Given the description of an element on the screen output the (x, y) to click on. 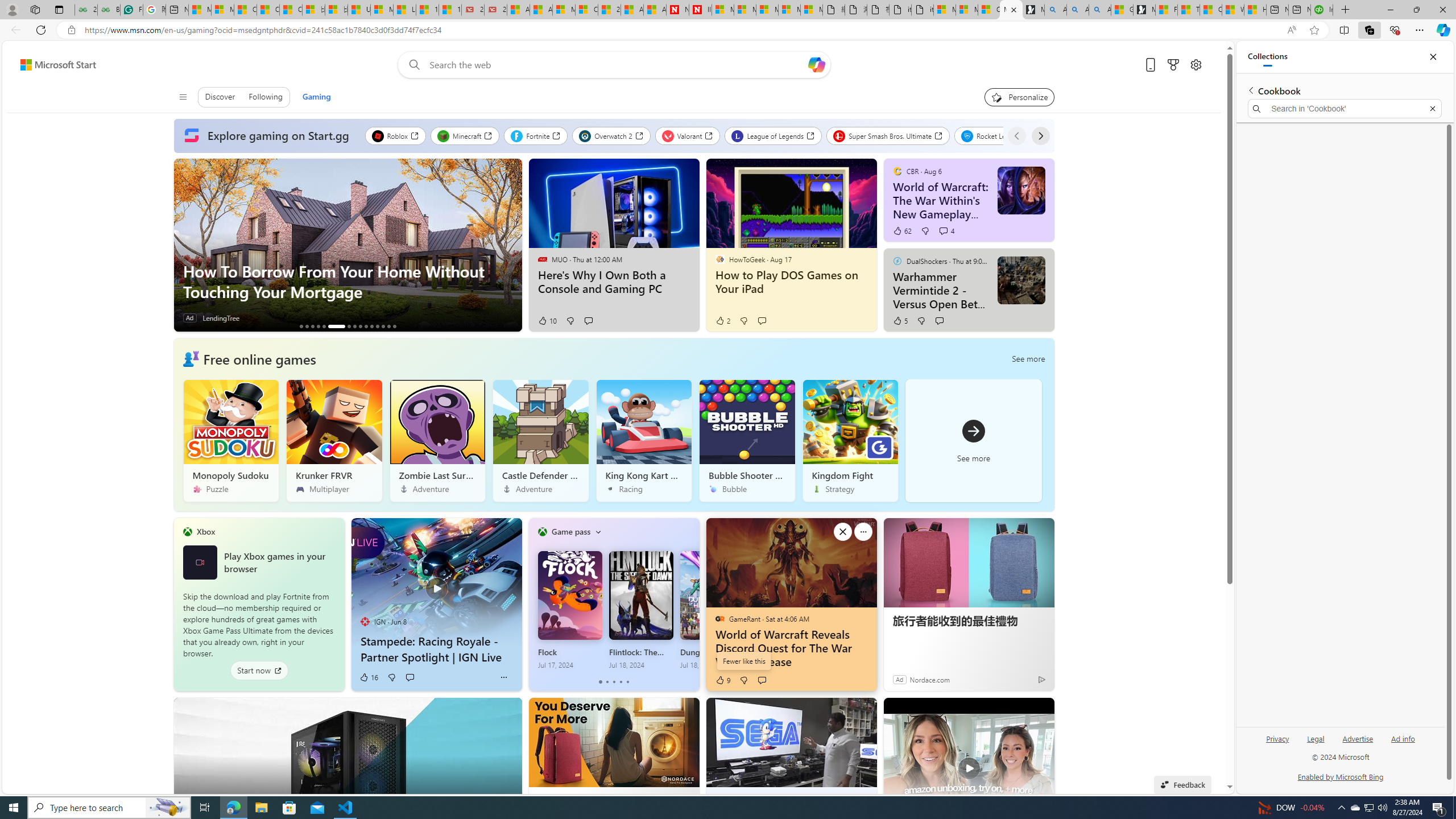
Xbox (205, 531)
League of Legends (773, 135)
MUO (542, 258)
25 Basic Linux Commands For Beginners - GeeksforGeeks (85, 9)
9 Like (722, 680)
Krunker FRVR (333, 440)
Bubble Shooter HD (746, 440)
